Given the description of an element on the screen output the (x, y) to click on. 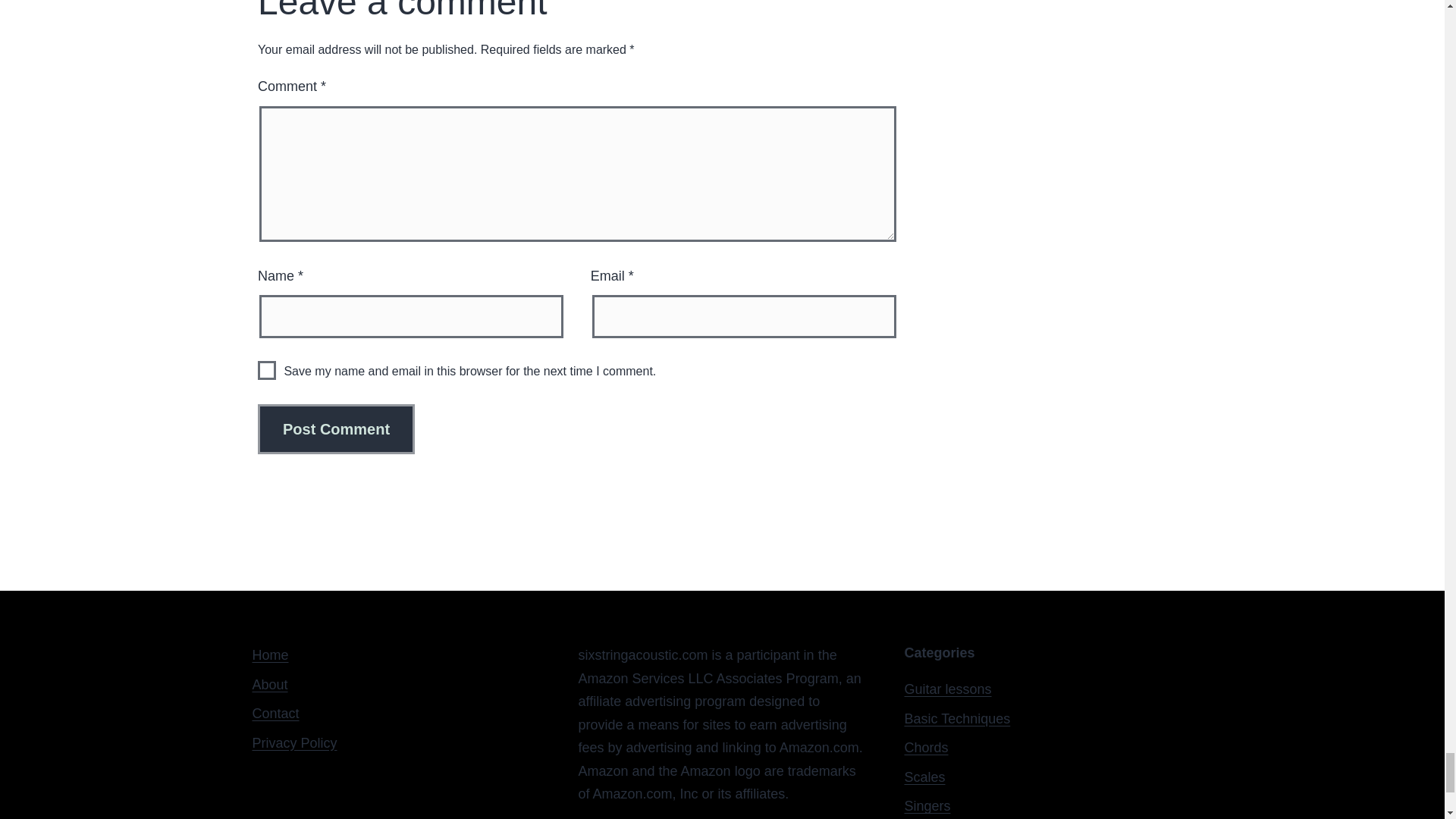
Post Comment (335, 429)
yes (266, 370)
